Given the description of an element on the screen output the (x, y) to click on. 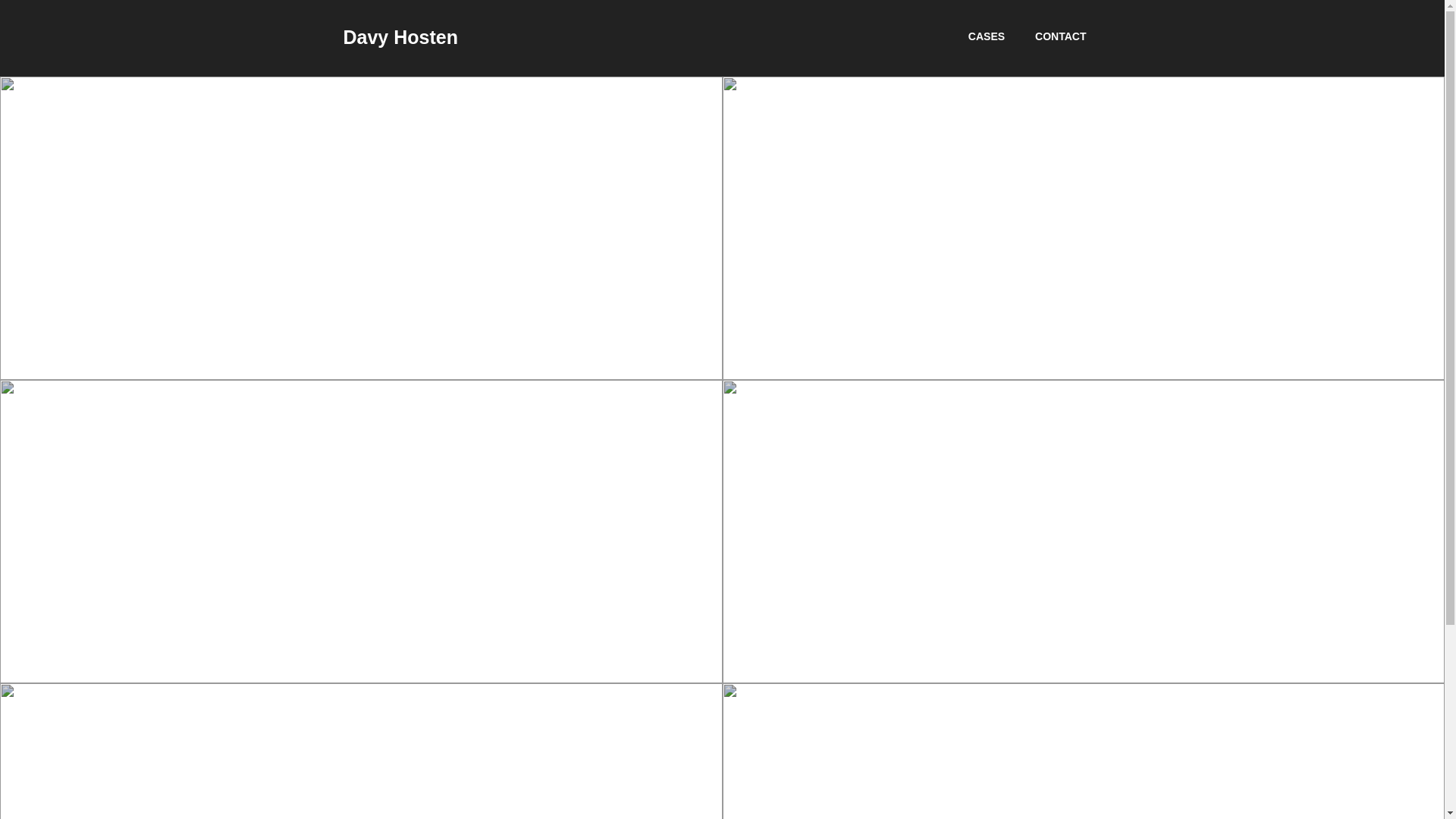
CONTACT Element type: text (1060, 36)
CASES Element type: text (986, 36)
Davy Hosten Element type: text (399, 36)
